Given the description of an element on the screen output the (x, y) to click on. 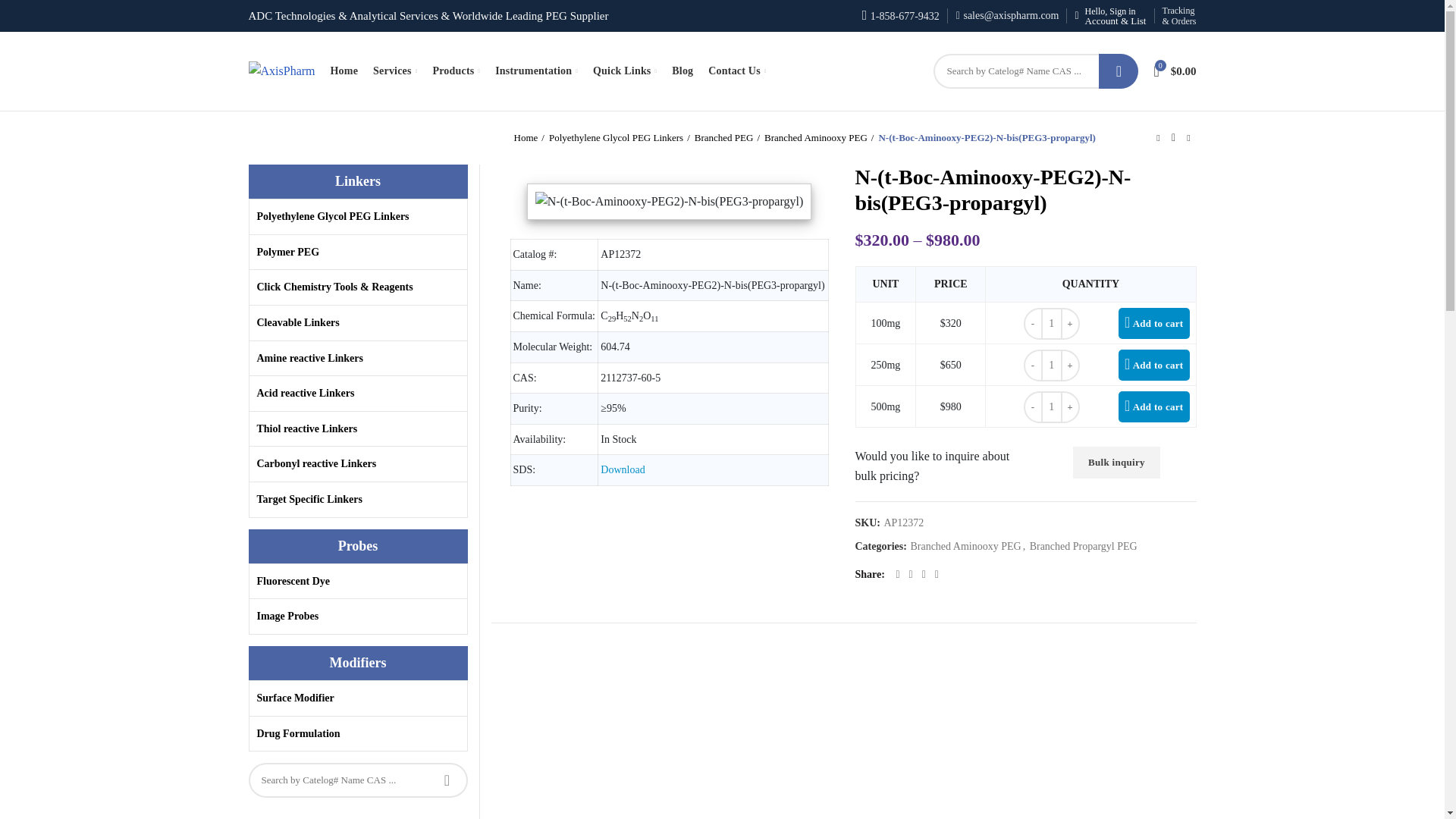
Home (344, 71)
Shopping cart (1174, 71)
1-858-677-9432 (900, 16)
Services (395, 71)
Hello, Sign in (1110, 15)
My account (1110, 15)
